Given the description of an element on the screen output the (x, y) to click on. 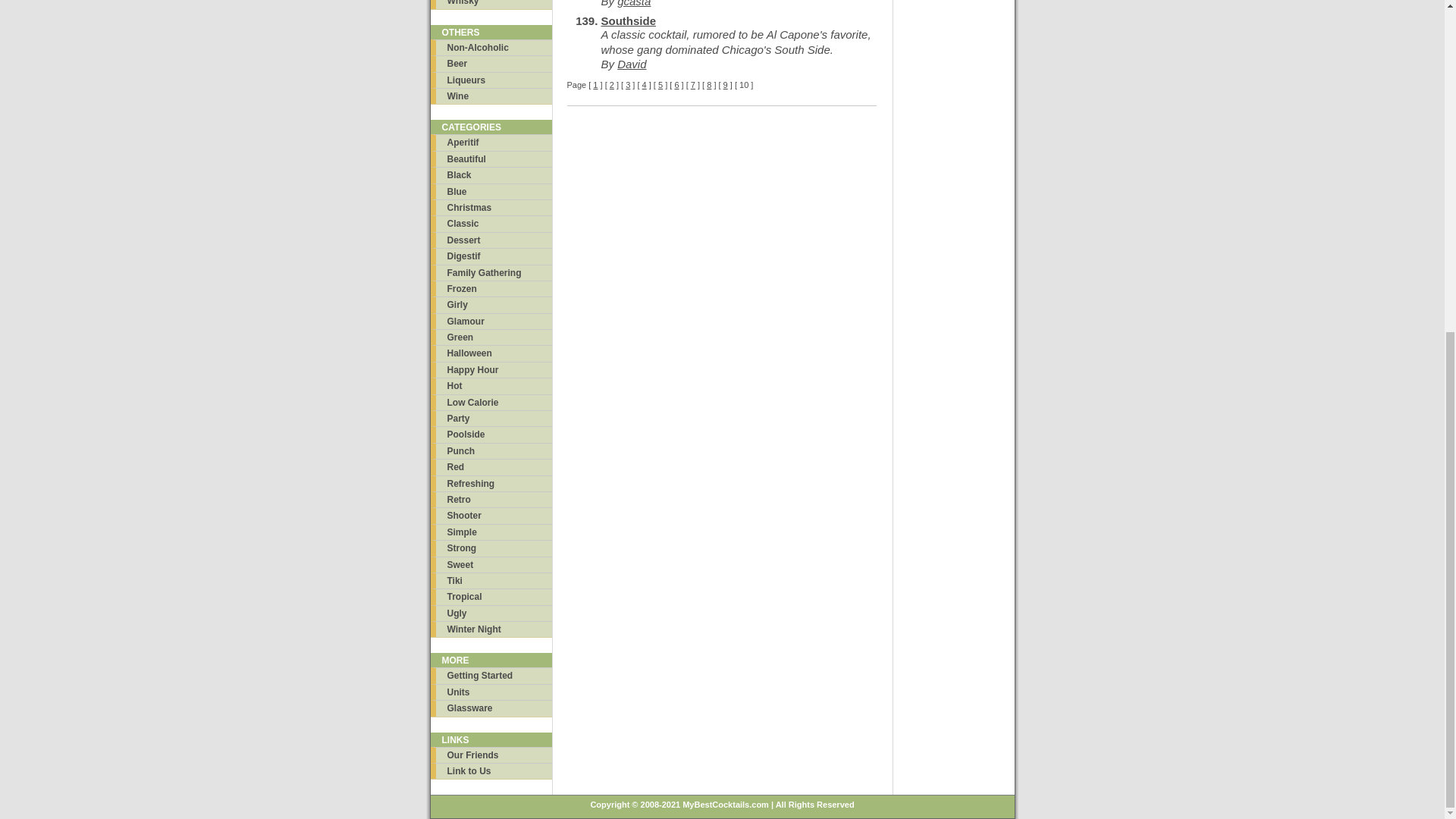
Blue (490, 191)
Liqueurs (490, 79)
Christmas (490, 207)
Wine (490, 95)
Beautiful (490, 158)
Black (490, 174)
Non-Alcoholic (490, 47)
Aperitif (490, 141)
Whisky (490, 4)
Advertisement (953, 444)
Beer (490, 63)
Advertisement (953, 108)
